Given the description of an element on the screen output the (x, y) to click on. 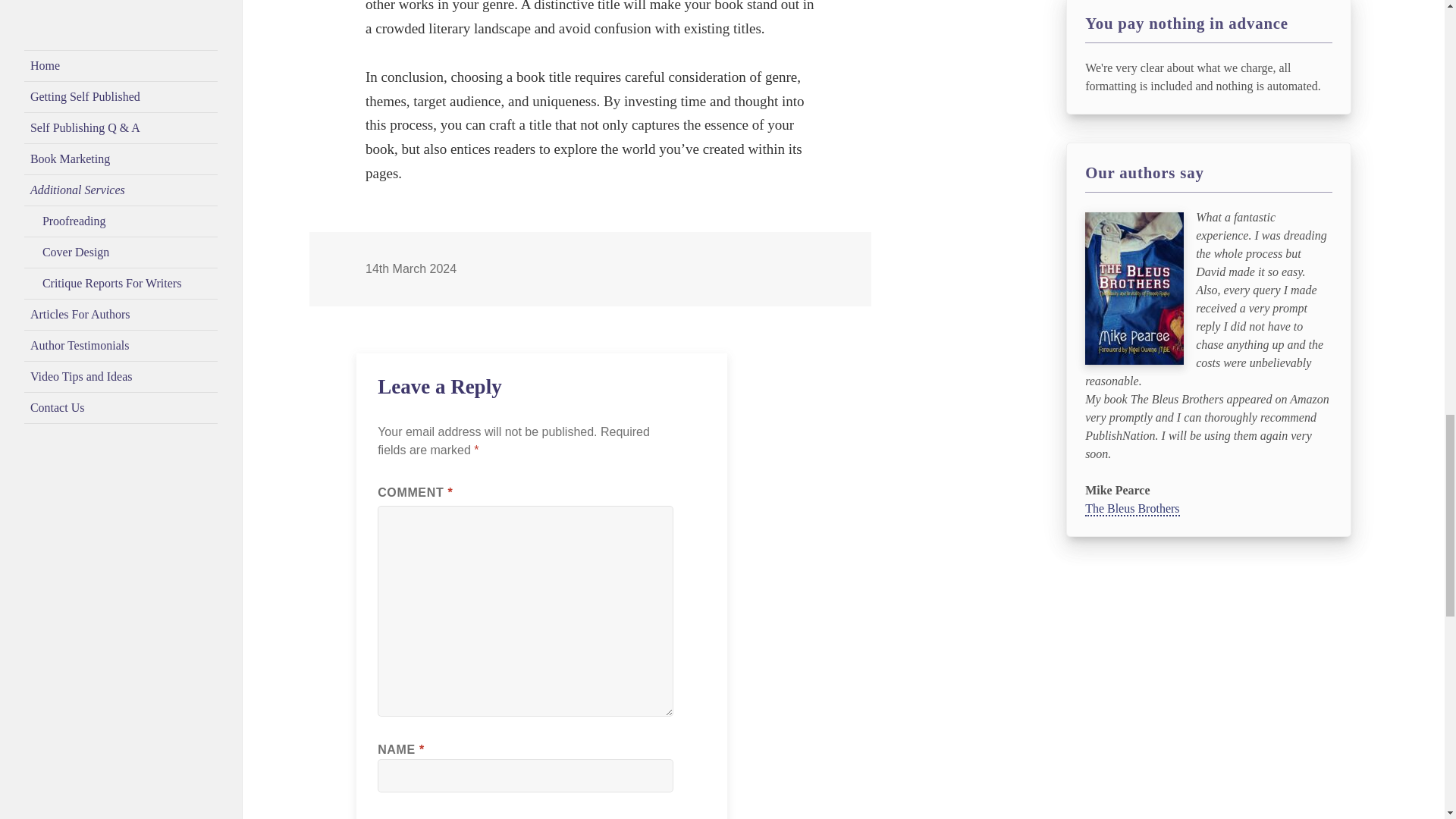
The Bleus Brothers (1131, 509)
